Given the description of an element on the screen output the (x, y) to click on. 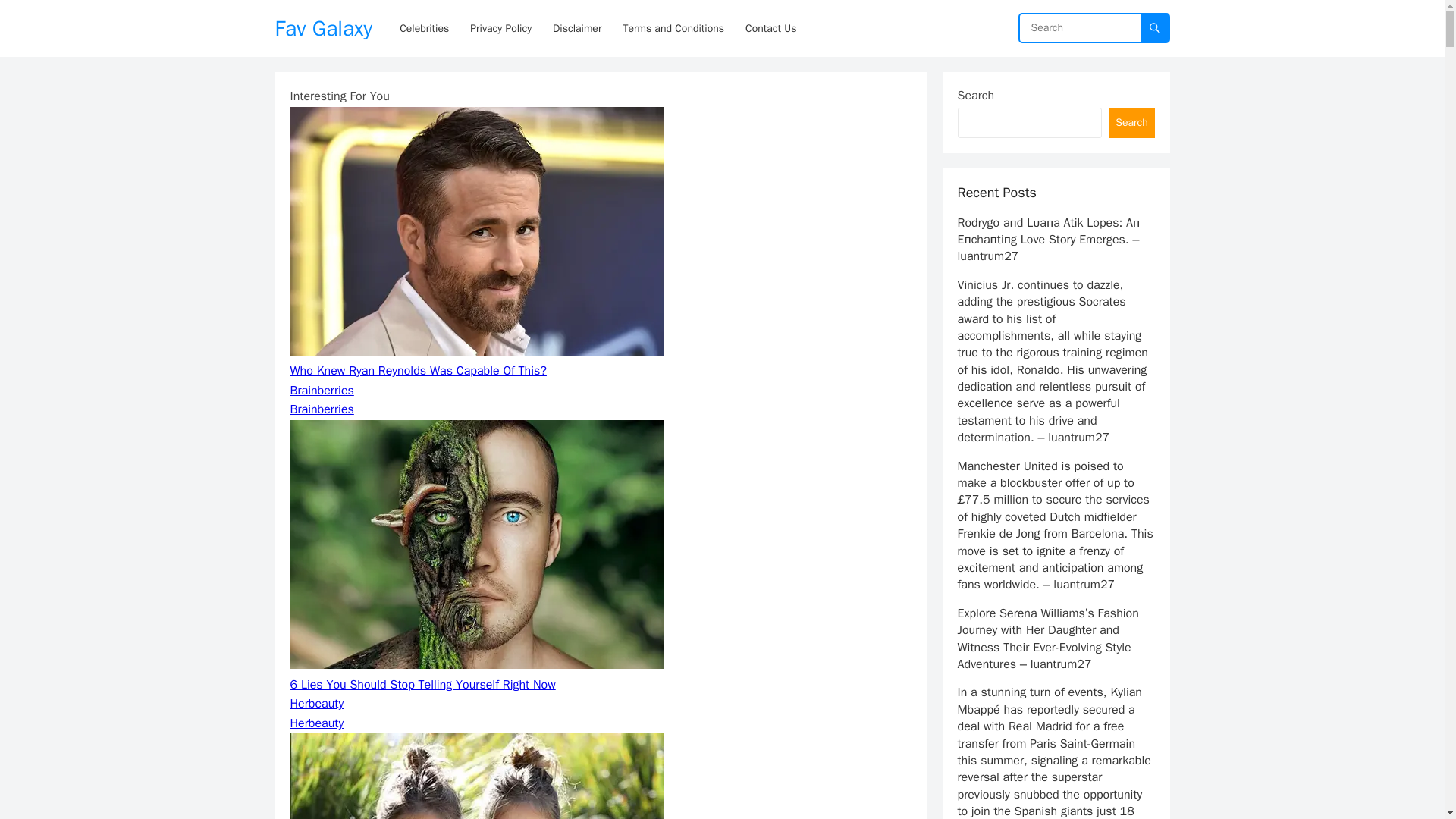
Fav Galaxy (323, 28)
Terms and Conditions (672, 28)
Celebrities (424, 28)
Disclaimer (576, 28)
Contact Us (770, 28)
Privacy Policy (500, 28)
